Given the description of an element on the screen output the (x, y) to click on. 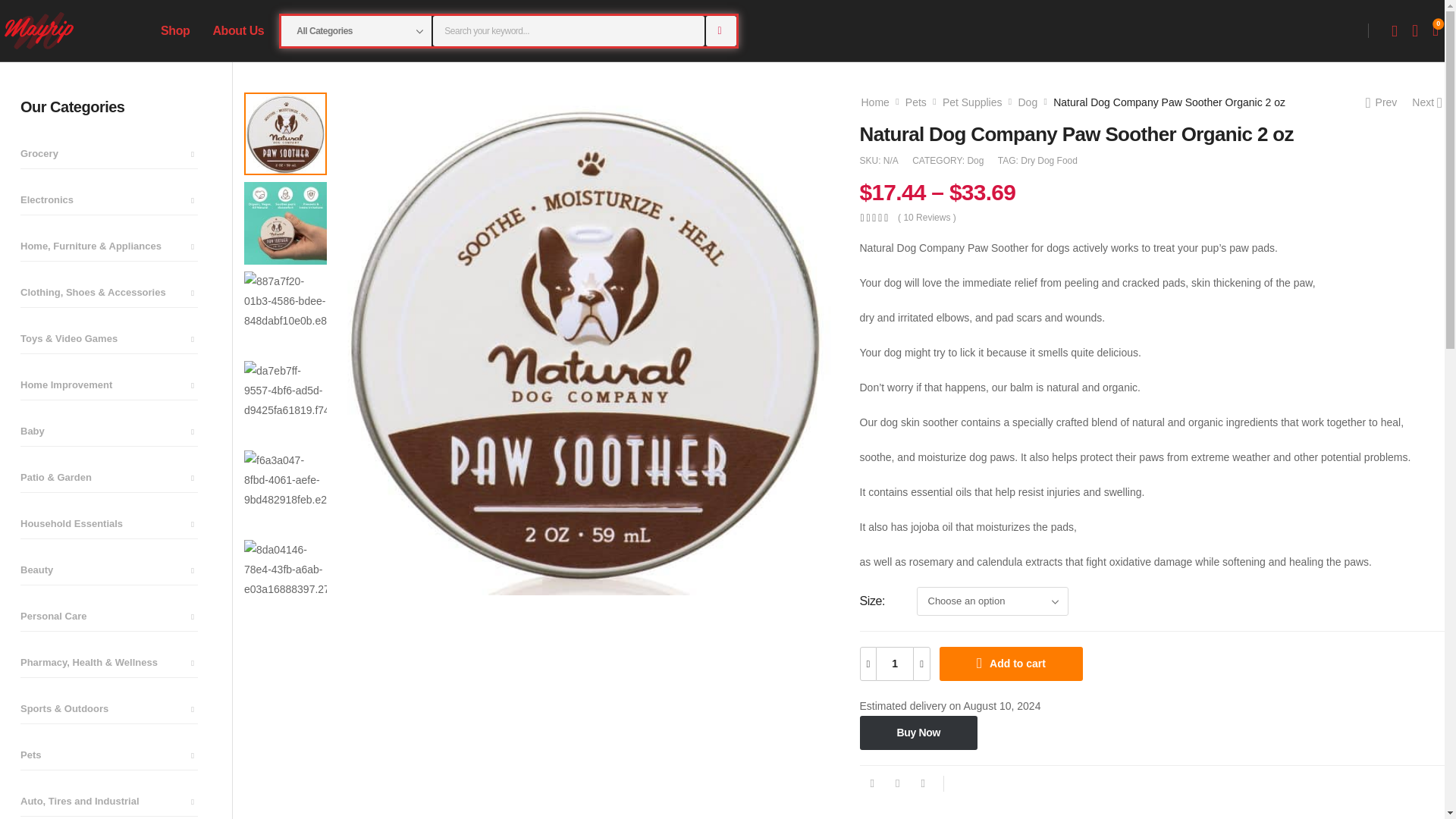
1 (894, 663)
About Us (237, 30)
Grocery (109, 154)
